Given the description of an element on the screen output the (x, y) to click on. 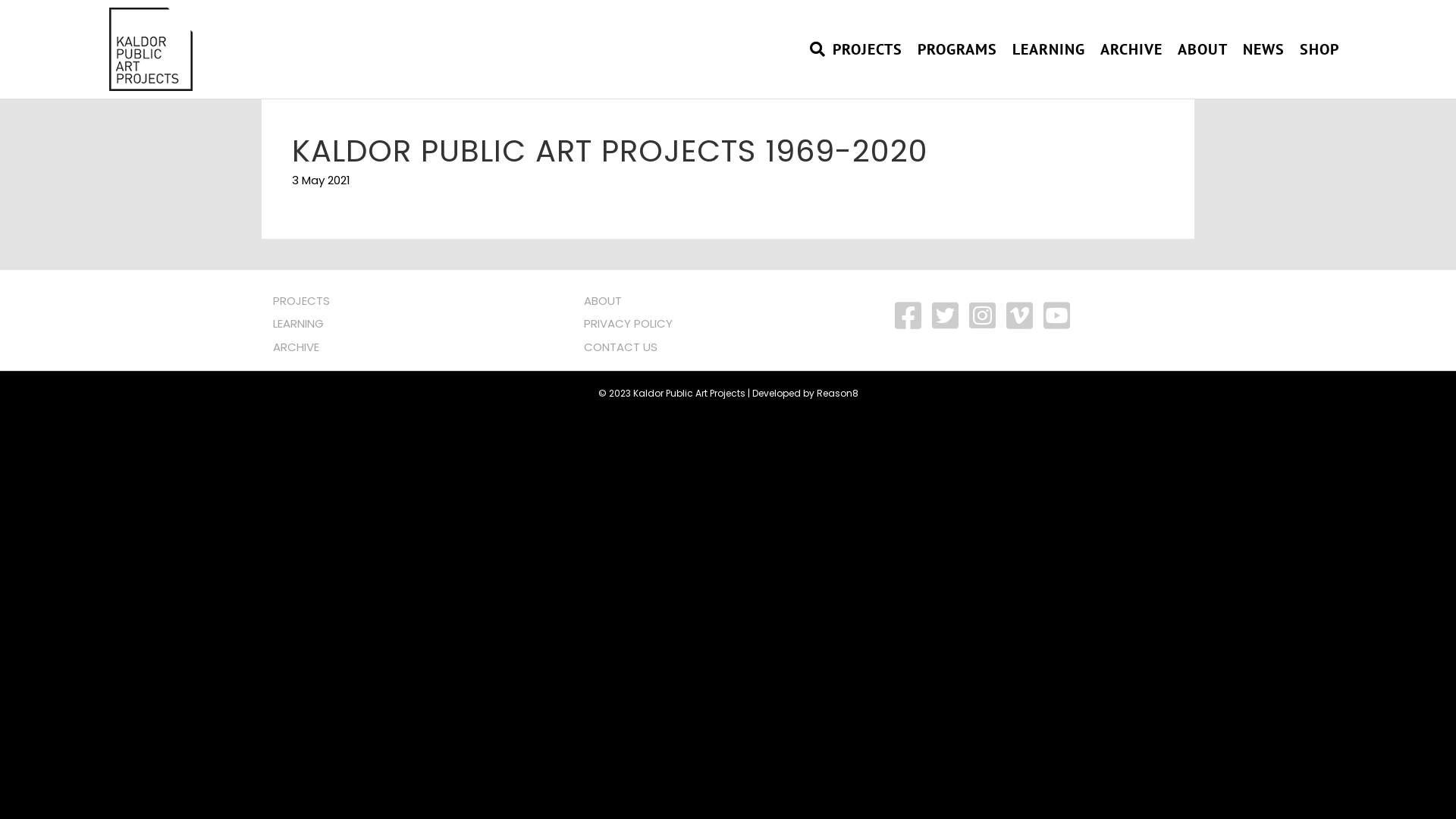
LEARNING Element type: text (1048, 49)
PRIVACY POLICY Element type: text (627, 323)
LEARNING Element type: text (298, 323)
NEWS Element type: text (1263, 49)
PROJECTS Element type: text (867, 49)
ABOUT Element type: text (1202, 49)
PROJECTS Element type: text (301, 300)
ARCHIVE Element type: text (296, 346)
ABOUT Element type: text (602, 300)
ARCHIVE Element type: text (1131, 49)
CONTACT US Element type: text (620, 346)
Reason8 Element type: text (836, 392)
SHOP Element type: text (1319, 49)
PROGRAMS Element type: text (957, 49)
